Given the description of an element on the screen output the (x, y) to click on. 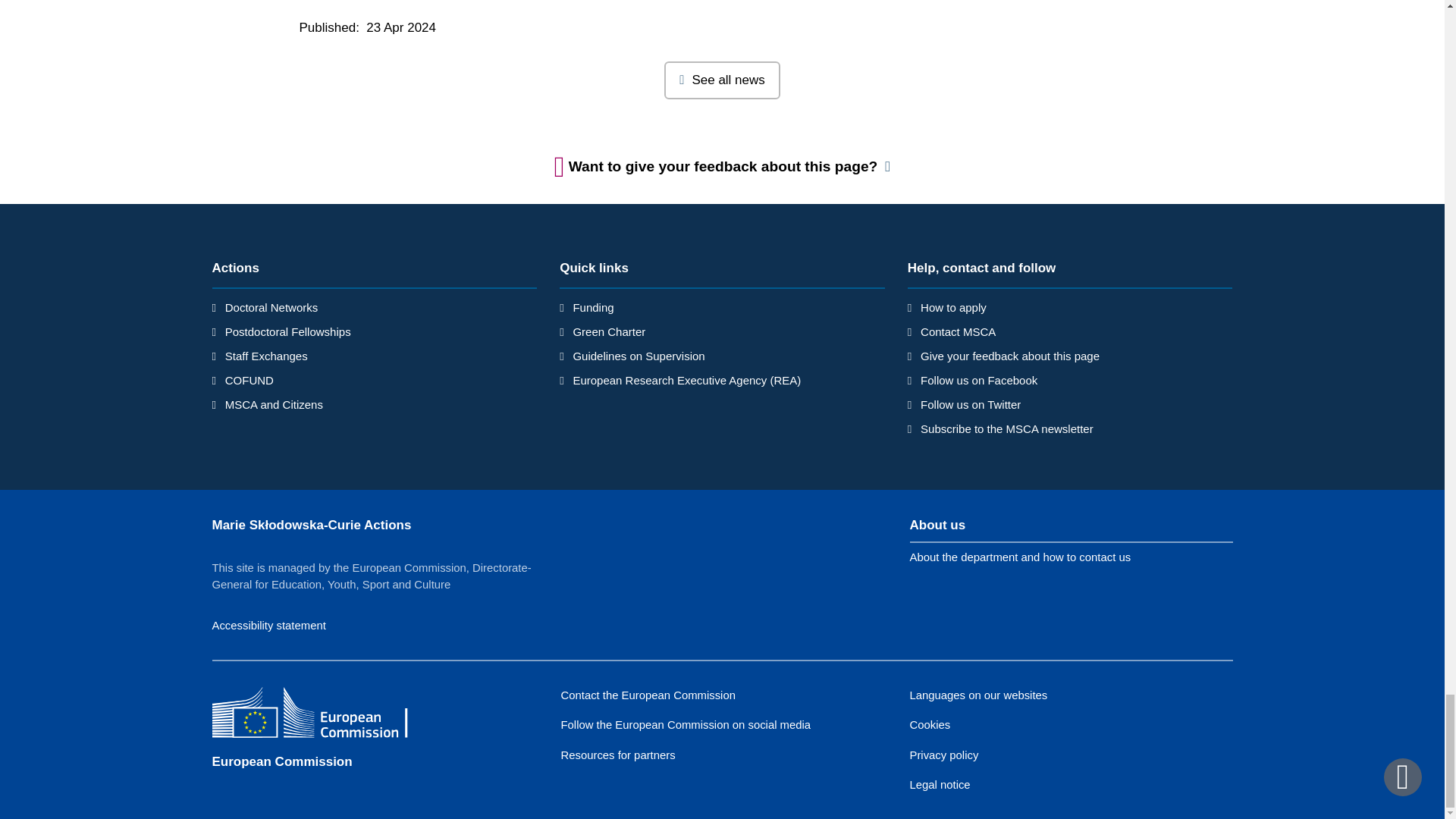
See all news (721, 80)
Want to give your feedback about this page? (722, 166)
European Commission (322, 714)
